Given the description of an element on the screen output the (x, y) to click on. 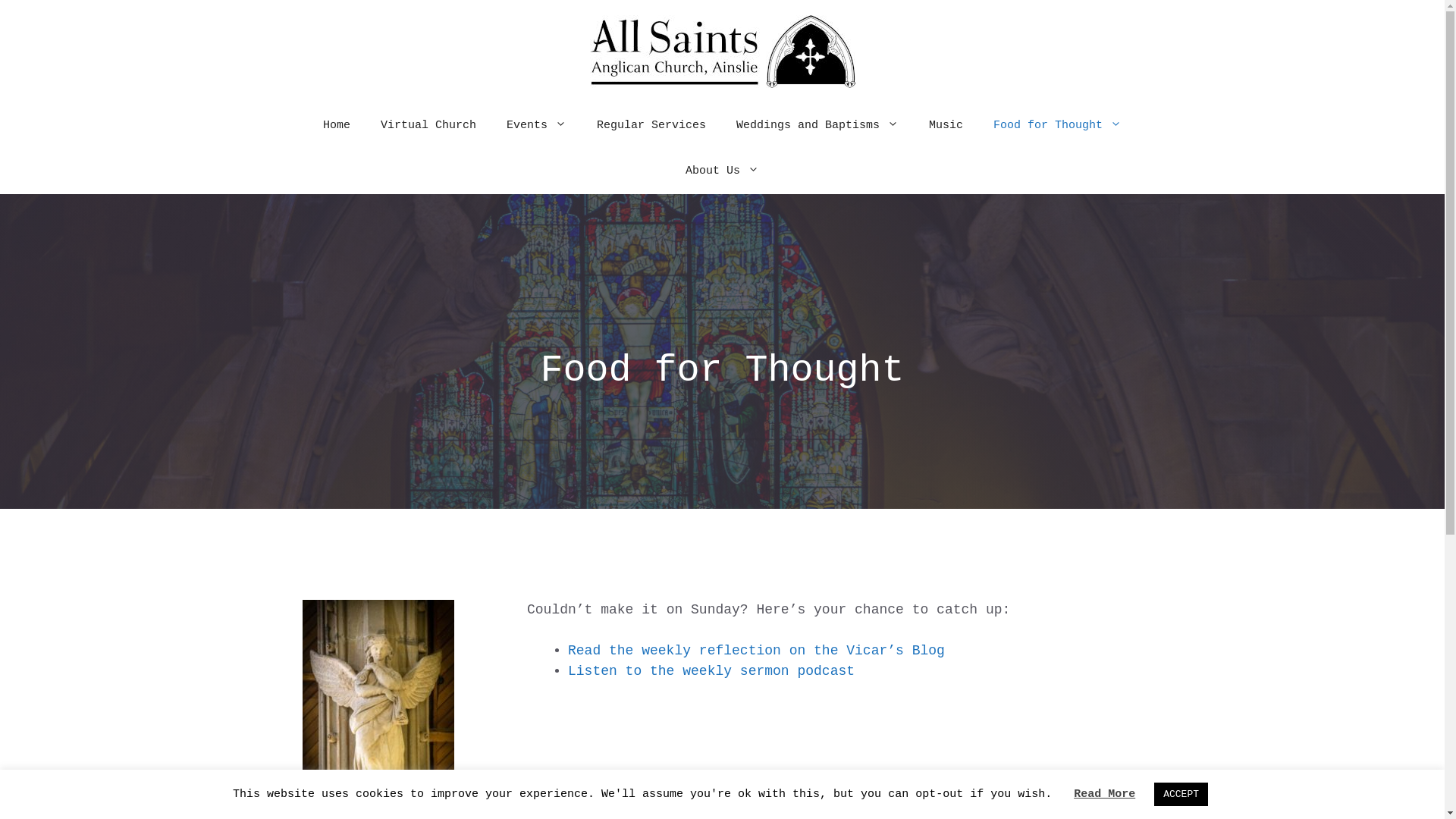
Weddings and Baptisms Element type: text (817, 125)
Listen to the weekly sermon podcast Element type: text (710, 670)
About Us Element type: text (722, 171)
Food for Thought Element type: text (1057, 125)
Home Element type: text (336, 125)
Virtual Church Element type: text (428, 125)
Regular Services Element type: text (651, 125)
Read More Element type: text (1104, 793)
Music Element type: text (945, 125)
Events Element type: text (536, 125)
ACCEPT Element type: text (1181, 794)
